Given the description of an element on the screen output the (x, y) to click on. 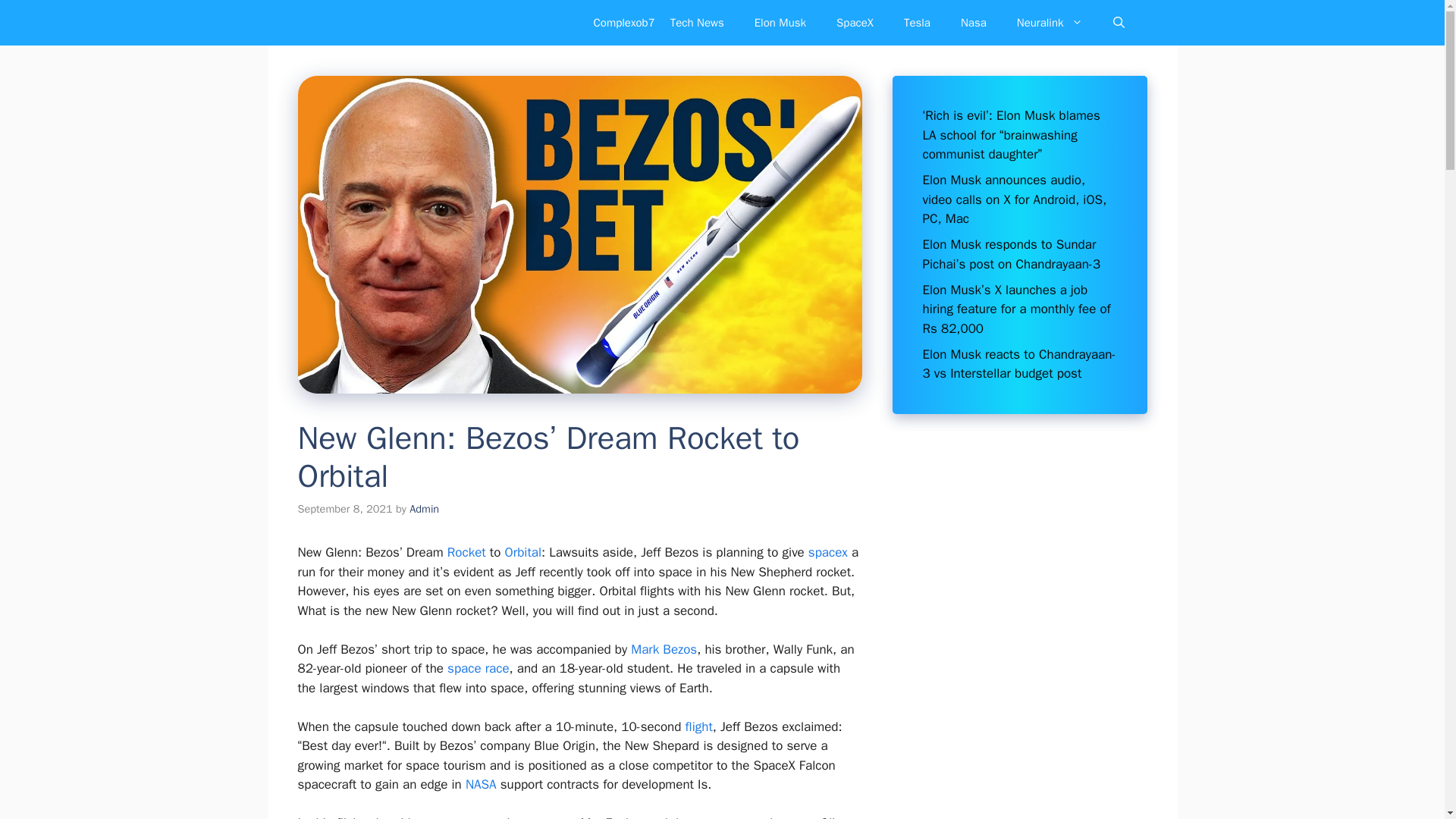
space race (477, 668)
Tesla (916, 22)
space race (477, 668)
SpaceX (854, 22)
Rocket (466, 552)
View all posts by Admin (424, 508)
Mark Bezos (663, 649)
NASA (480, 784)
Orbital Test (523, 552)
Flight (699, 726)
Nasa (480, 784)
Complexob7 (624, 22)
Tech News (697, 22)
Neuralink (1049, 22)
Elon Musk (780, 22)
